Given the description of an element on the screen output the (x, y) to click on. 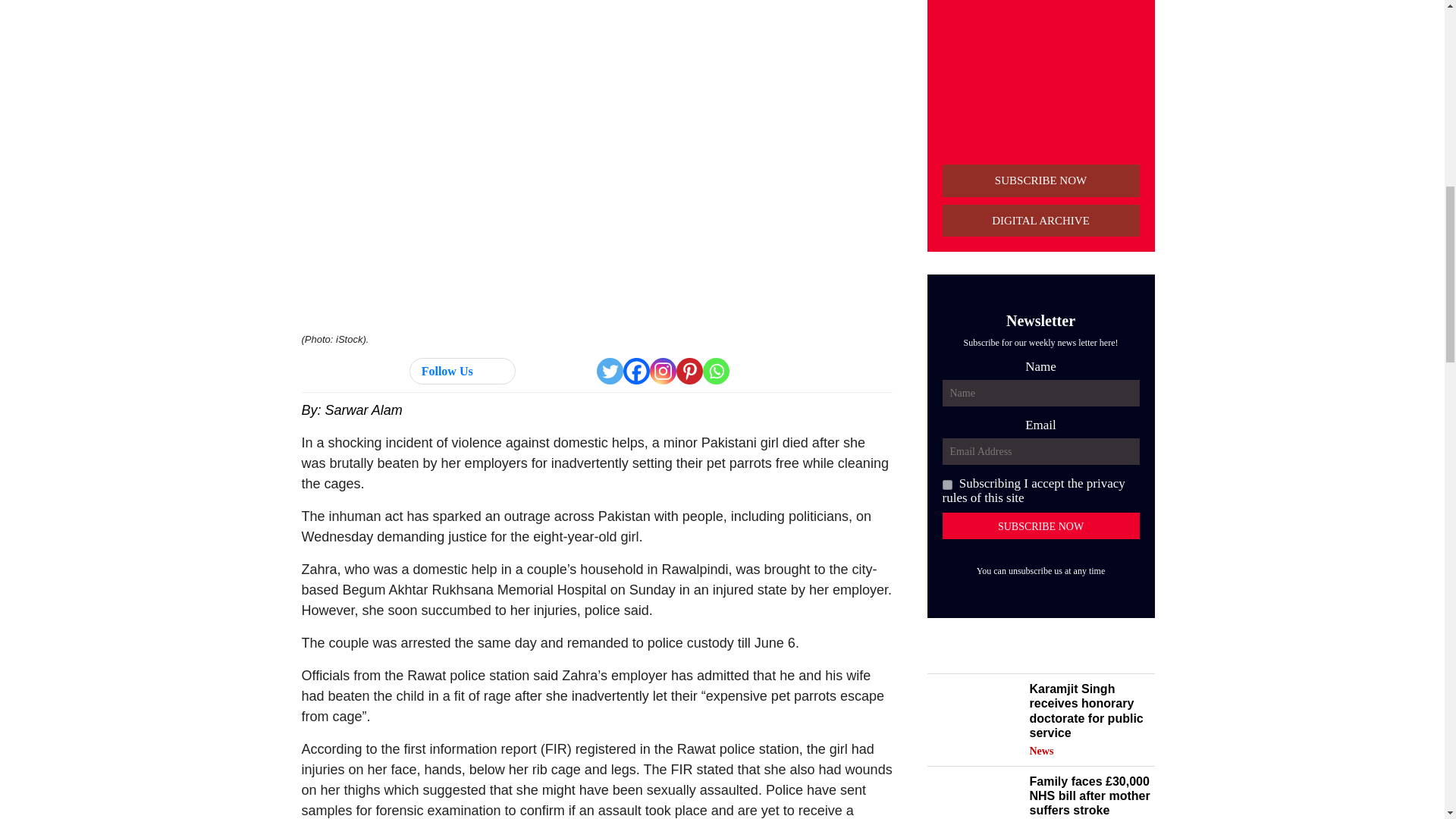
Whatsapp (716, 370)
Facebook (636, 370)
Twitter (609, 370)
Subscribe Now (1040, 525)
Pinterest (690, 370)
Instagram (663, 370)
on (947, 484)
